Given the description of an element on the screen output the (x, y) to click on. 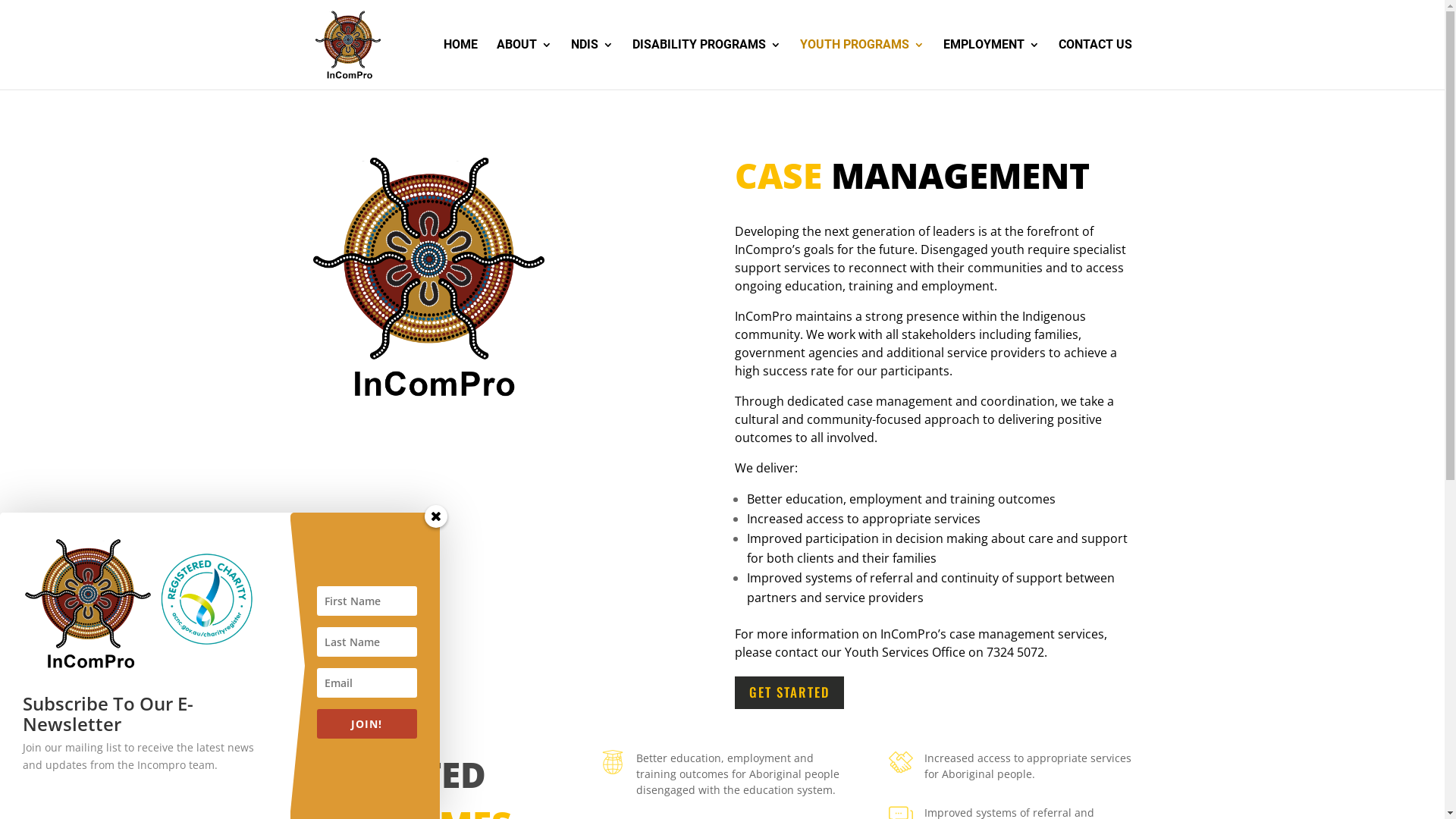
EMPLOYMENT Element type: text (991, 64)
JOIN! Element type: text (366, 723)
CONTACT US Element type: text (1095, 64)
DISABILITY PROGRAMS Element type: text (706, 64)
GET STARTED Element type: text (789, 692)
NDIS Element type: text (591, 64)
ABOUT Element type: text (523, 64)
HOME Element type: text (459, 64)
YOUTH PROGRAMS Element type: text (861, 64)
